Given the description of an element on the screen output the (x, y) to click on. 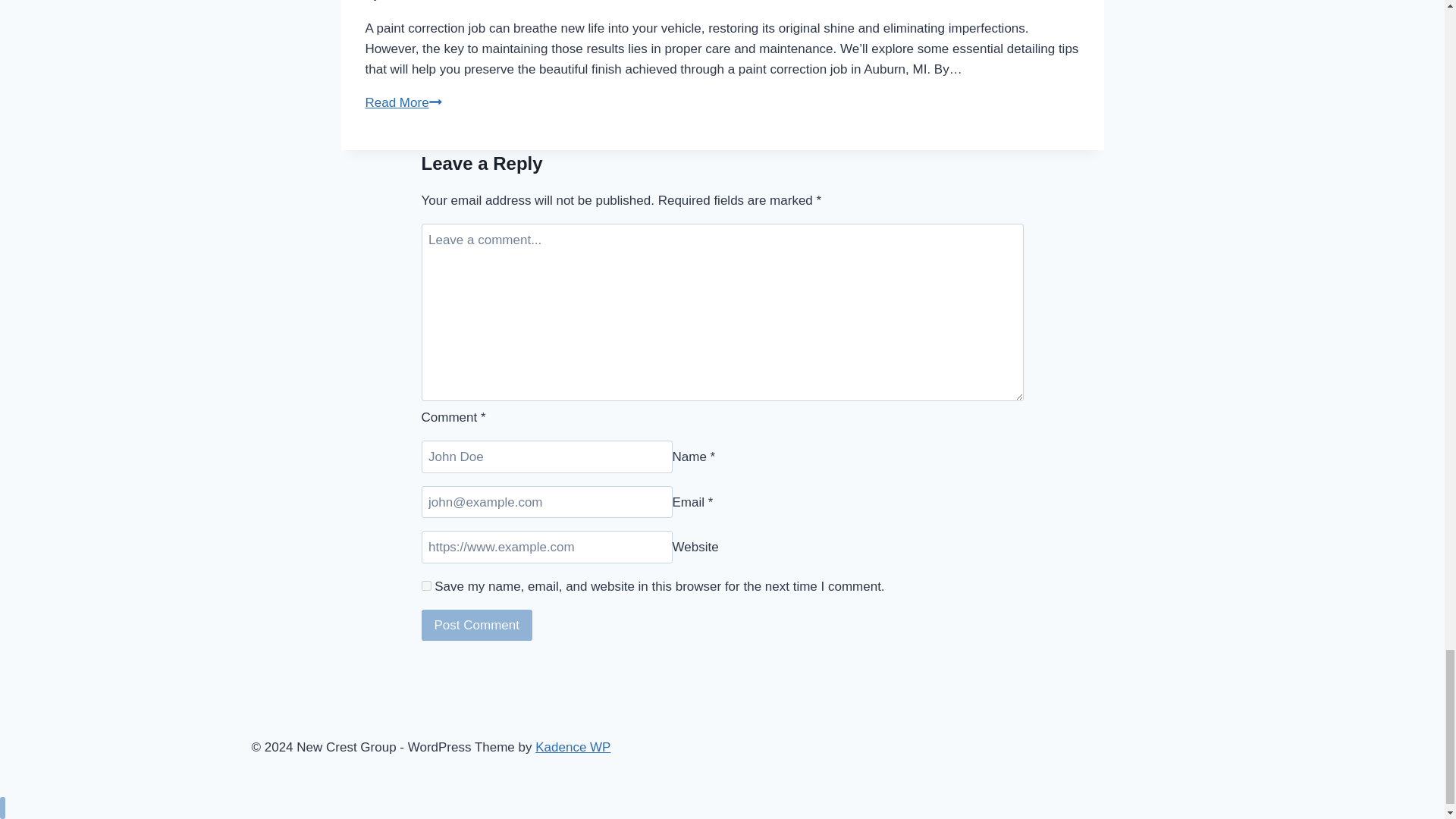
Post Comment (477, 624)
yes (426, 585)
Kadence WP (572, 747)
Post Comment (477, 624)
